Given the description of an element on the screen output the (x, y) to click on. 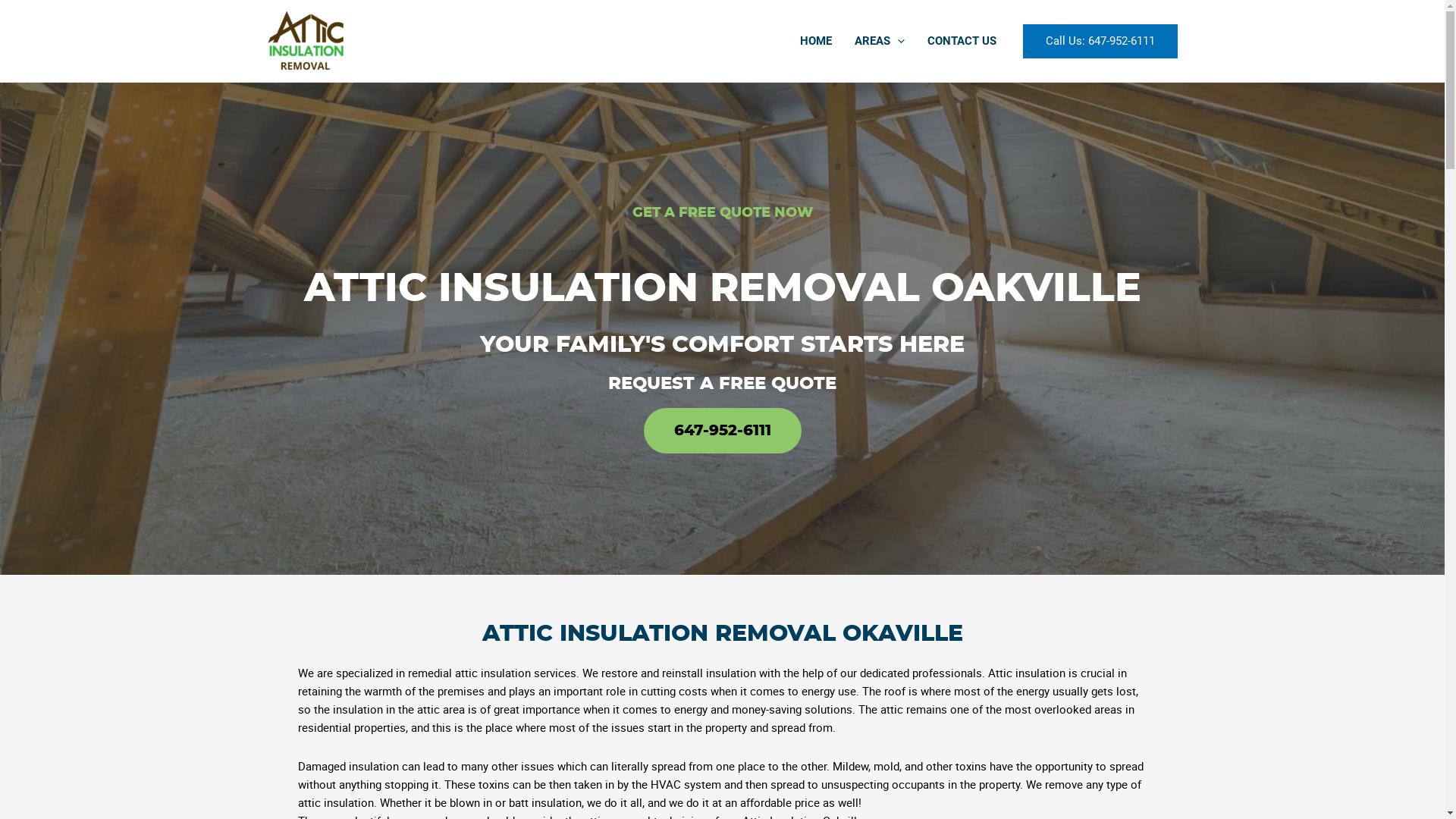
AREAS Element type: text (879, 40)
647-952-6111 Element type: text (721, 430)
CONTACT US Element type: text (961, 40)
HOME Element type: text (815, 40)
Call Us: 647-952-6111 Element type: text (1099, 41)
